Given the description of an element on the screen output the (x, y) to click on. 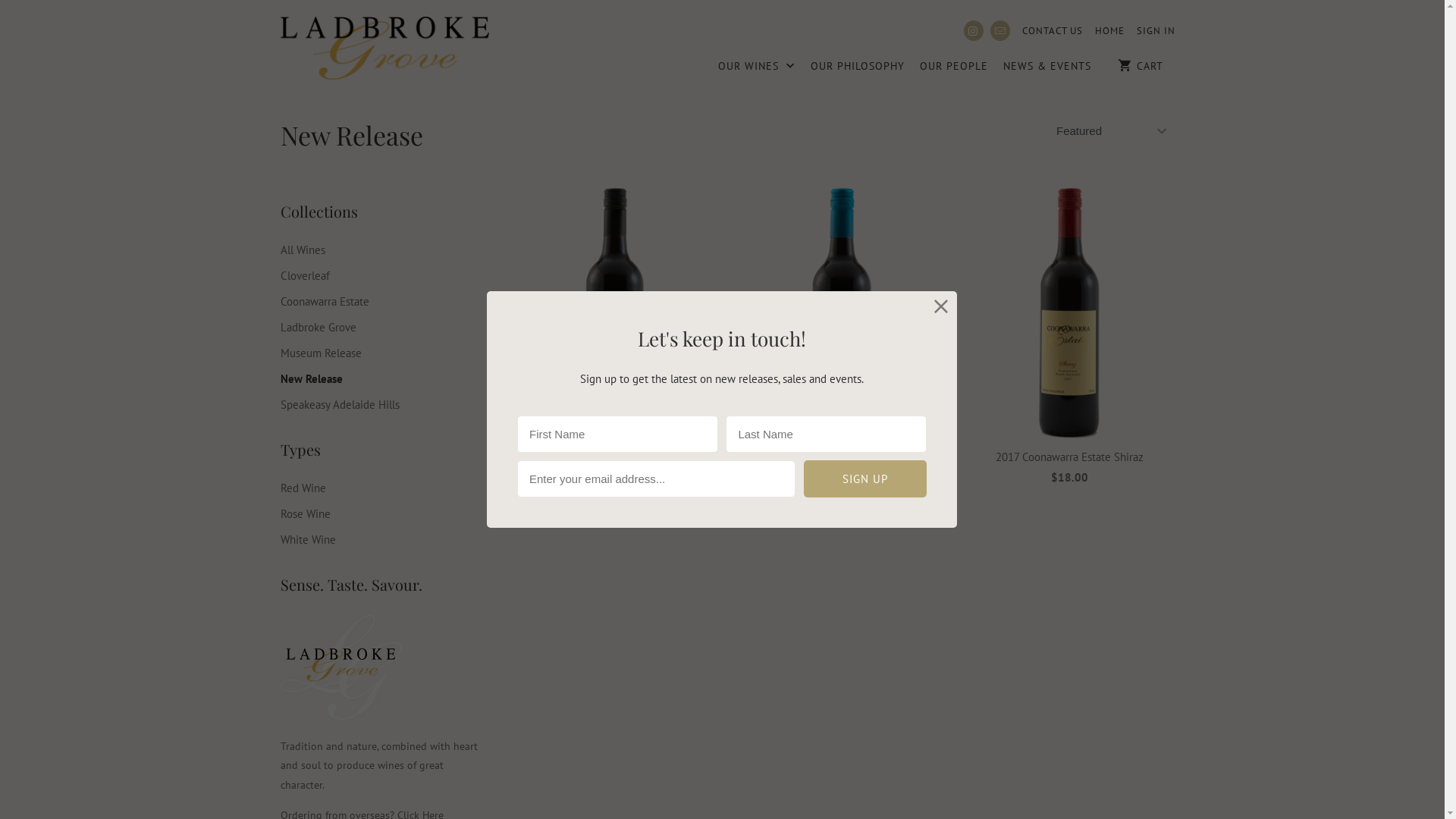
Close Element type: hover (941, 306)
All Wines Element type: text (302, 249)
Rose Wine Element type: text (305, 513)
OUR WINES Element type: text (756, 70)
SIGN IN Element type: text (1155, 30)
Sign Up Element type: text (864, 478)
CART Element type: text (1140, 65)
Coonawarra Estate Element type: text (324, 301)
Museum Release Element type: text (320, 352)
Email Ladbroke Grove Wines Element type: hover (1000, 30)
Cloverleaf Element type: text (304, 275)
NEWS & EVENTS Element type: text (1047, 69)
2017 Coonawarra Estate Shiraz
$18.00 Element type: text (1069, 340)
New Release Element type: text (351, 134)
Ladbroke Grove Wines Element type: hover (384, 49)
HOME Element type: text (1109, 30)
New Release Element type: text (311, 378)
OUR PHILOSOPHY Element type: text (857, 69)
2017 Coonawarra Estate Cabernet Sauvignon
$18.00 Element type: text (614, 351)
White Wine Element type: text (307, 539)
Red Wine Element type: text (303, 487)
OUR PEOPLE Element type: text (953, 69)
Ladbroke Grove Wines on Instagram Element type: hover (973, 30)
2017 Coonawarra Estate Shiraz Cabernet
$18.00 Element type: text (841, 340)
CONTACT US Element type: text (1052, 30)
Speakeasy Adelaide Hills Element type: text (339, 404)
Ladbroke Grove Element type: text (318, 327)
